Given the description of an element on the screen output the (x, y) to click on. 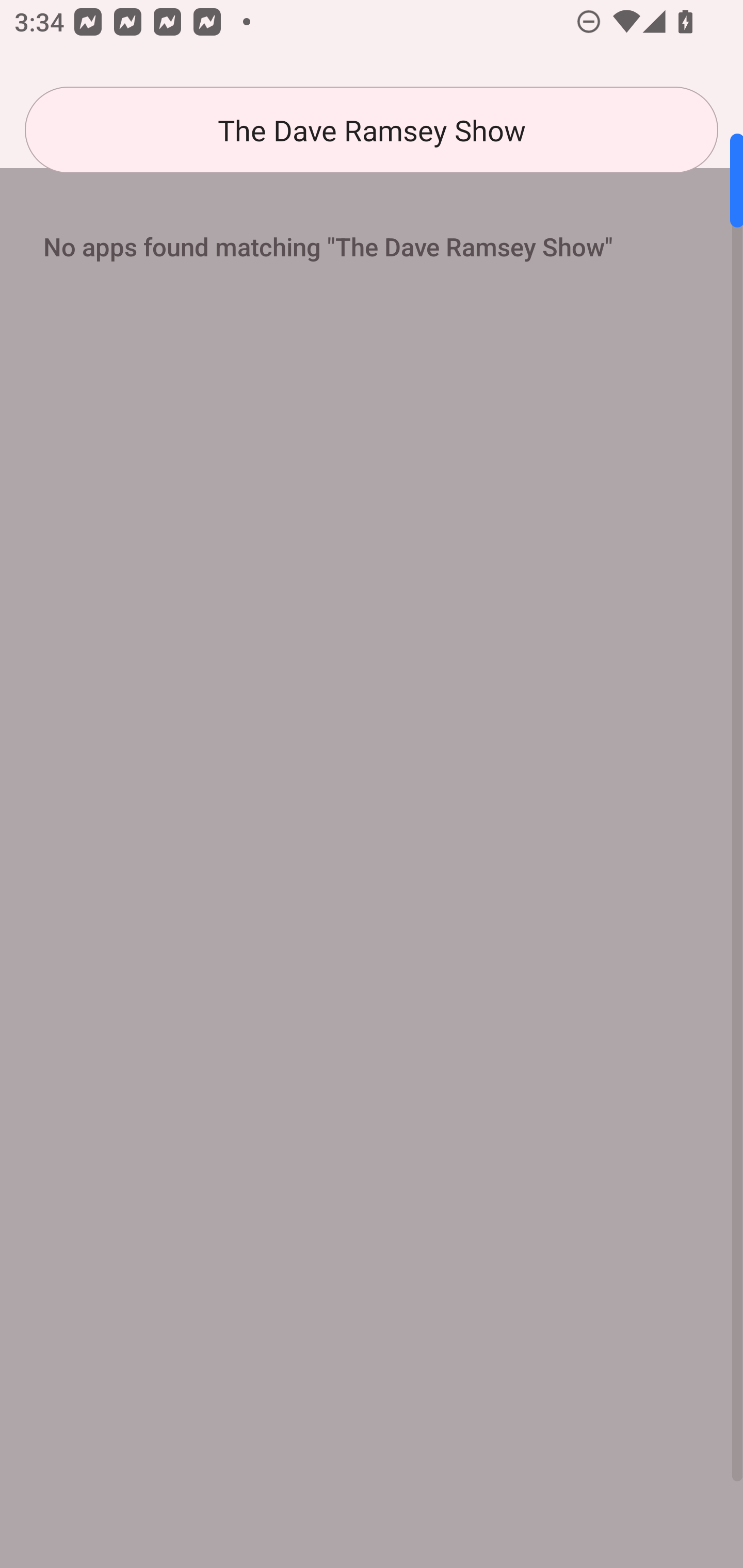
The Dave Ramsey Show (371, 130)
